Given the description of an element on the screen output the (x, y) to click on. 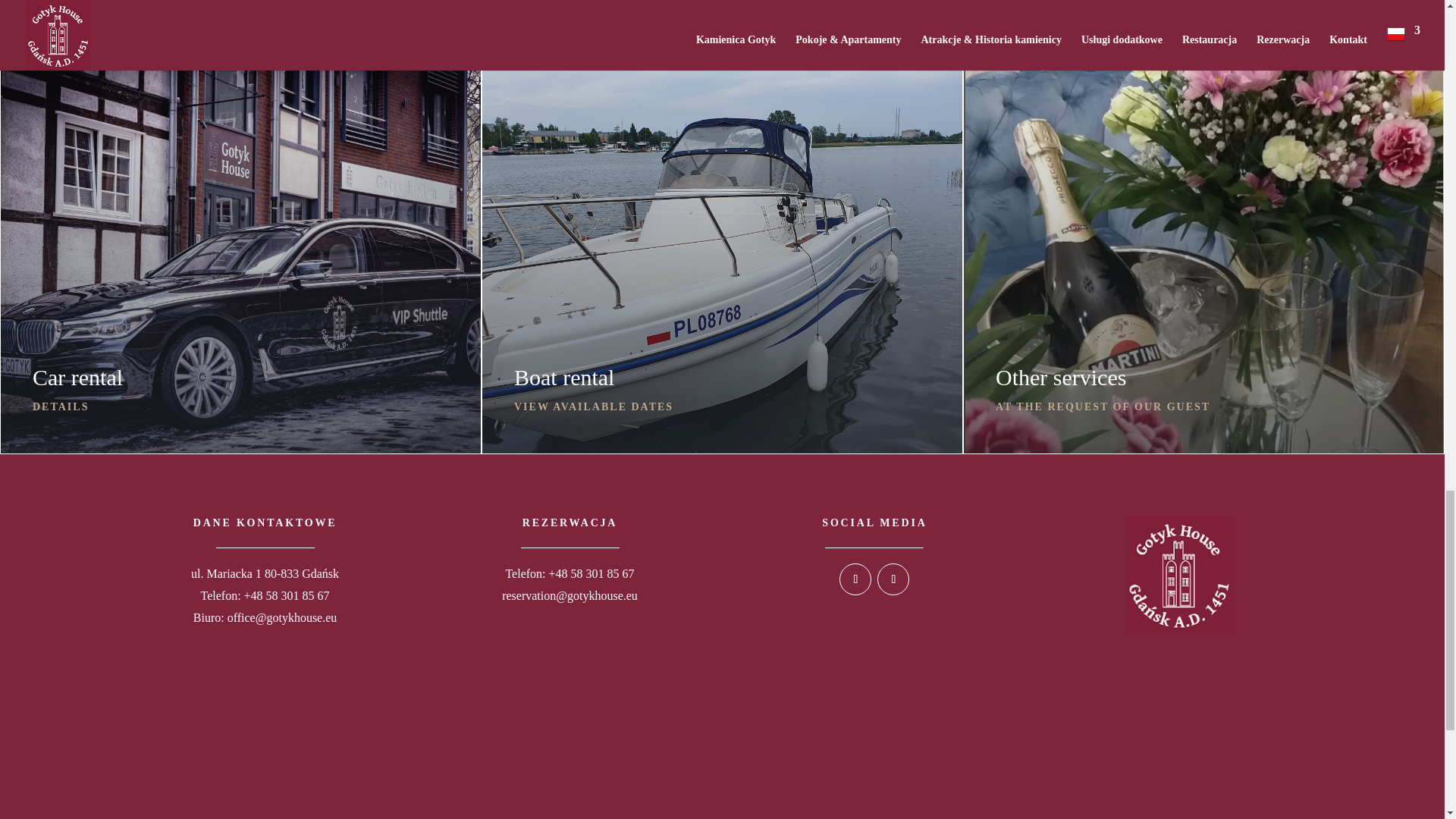
logo2 (1179, 574)
